Given the description of an element on the screen output the (x, y) to click on. 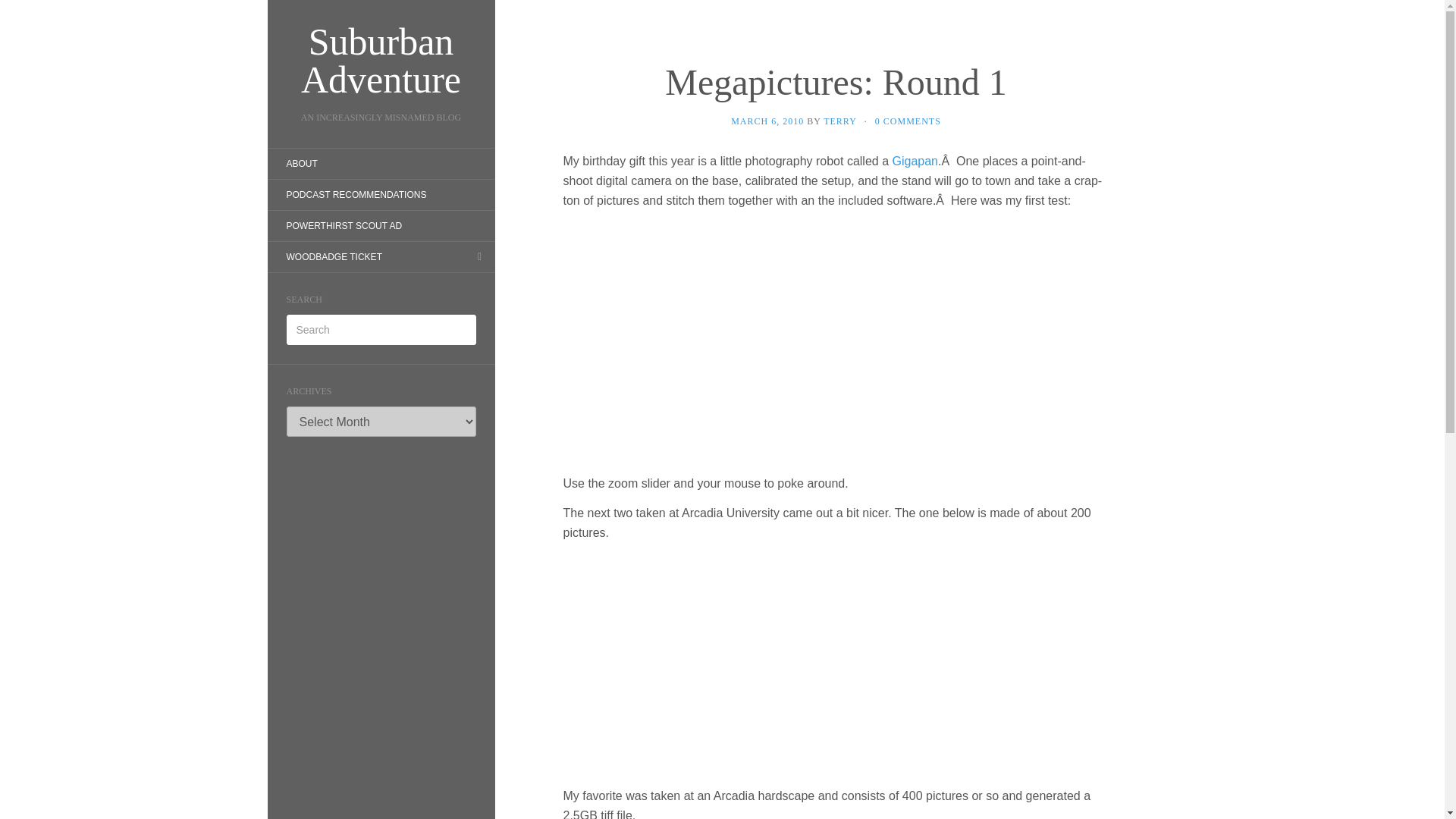
Gigapan (914, 160)
ABOUT (301, 163)
Search (22, 11)
0 COMMENTS (907, 121)
PODCAST RECOMMENDATIONS (355, 194)
Suburban Adventure (380, 60)
WOODBADGE TICKET (333, 257)
TERRY (840, 121)
MARCH 6, 2010 (766, 121)
POWERTHIRST SCOUT AD (343, 225)
